Given the description of an element on the screen output the (x, y) to click on. 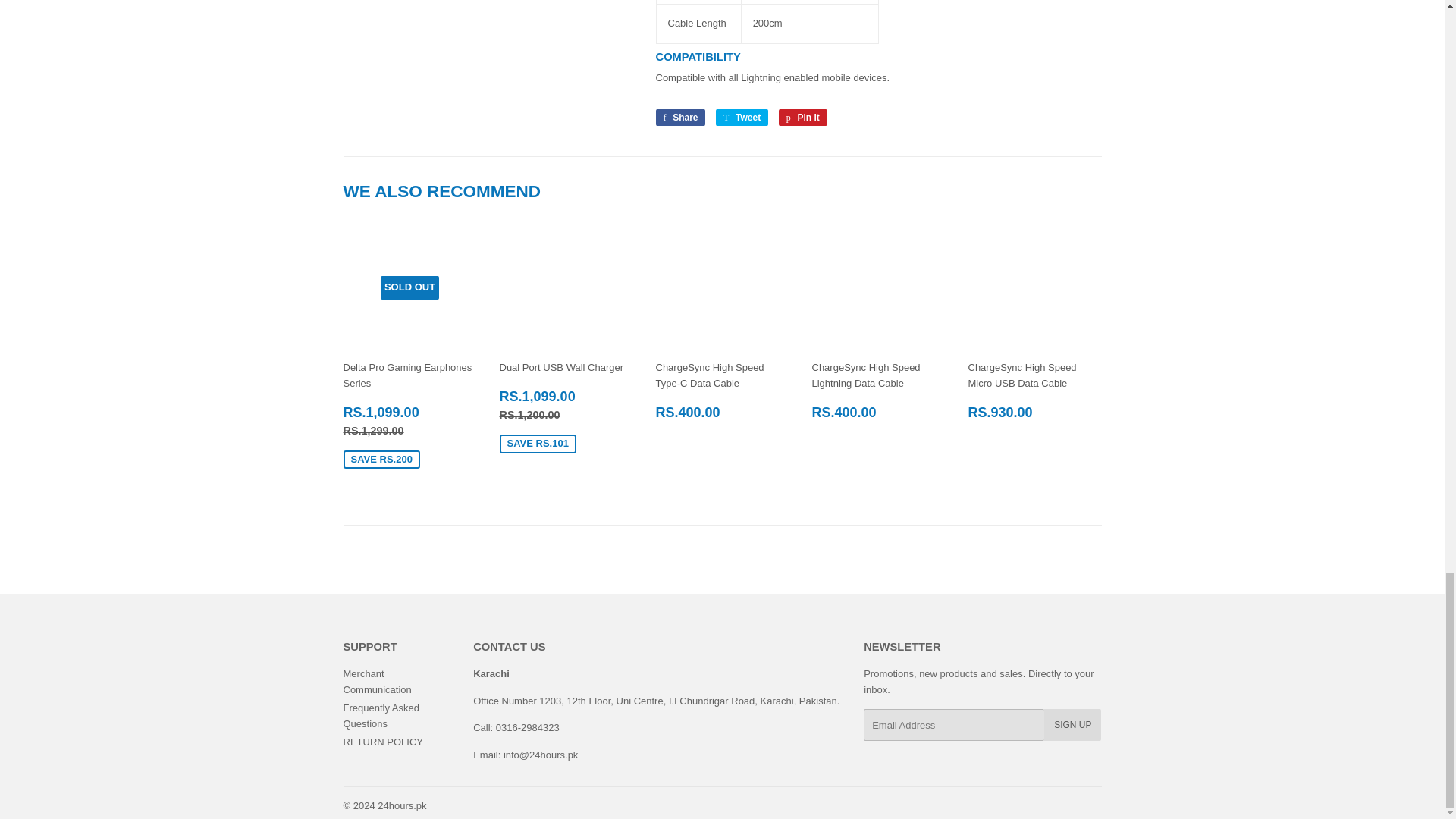
Tweet on Twitter (742, 117)
Share on Facebook (679, 117)
Pin on Pinterest (802, 117)
